Given the description of an element on the screen output the (x, y) to click on. 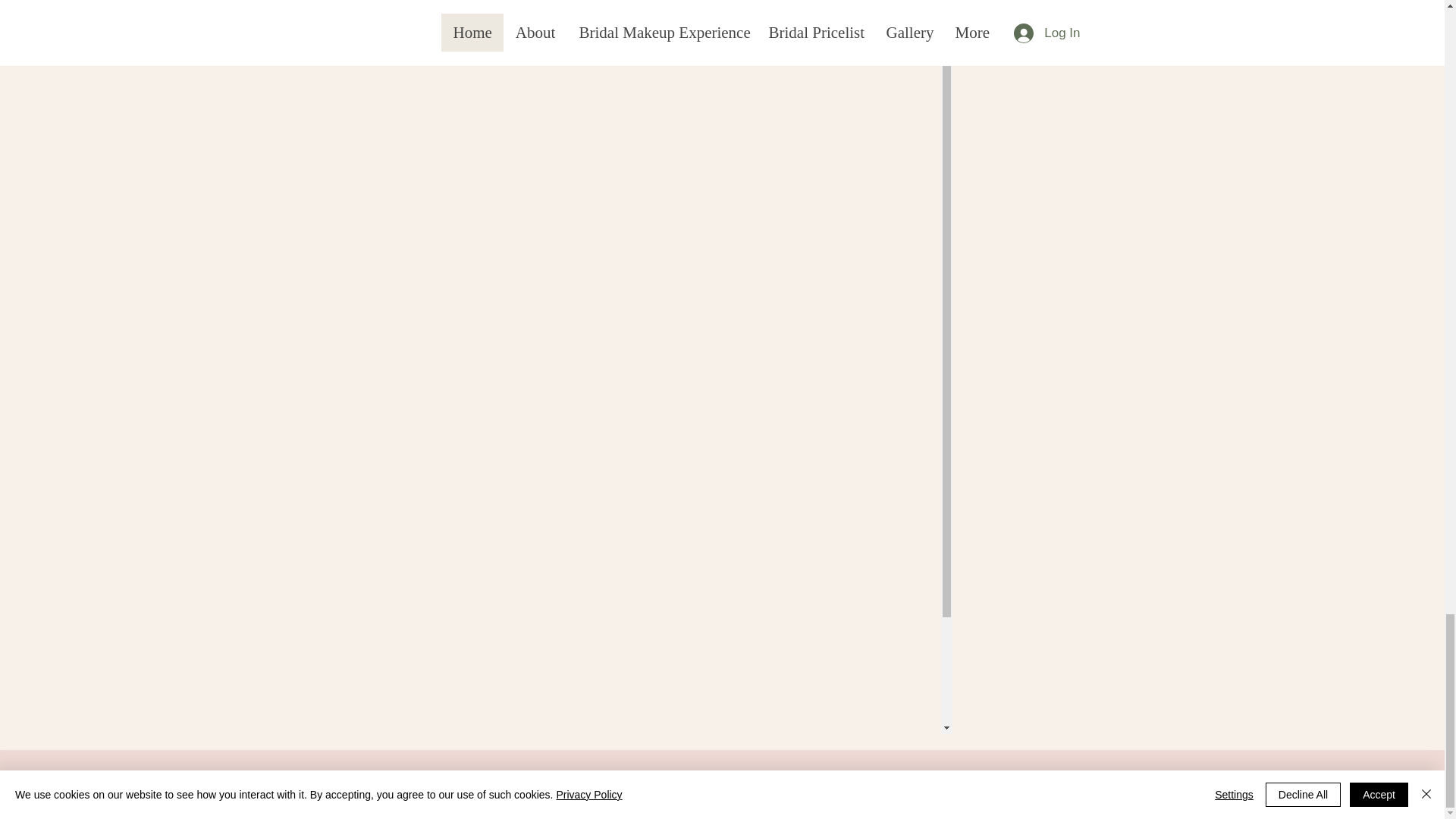
Privacy Policy (516, 777)
